Given the description of an element on the screen output the (x, y) to click on. 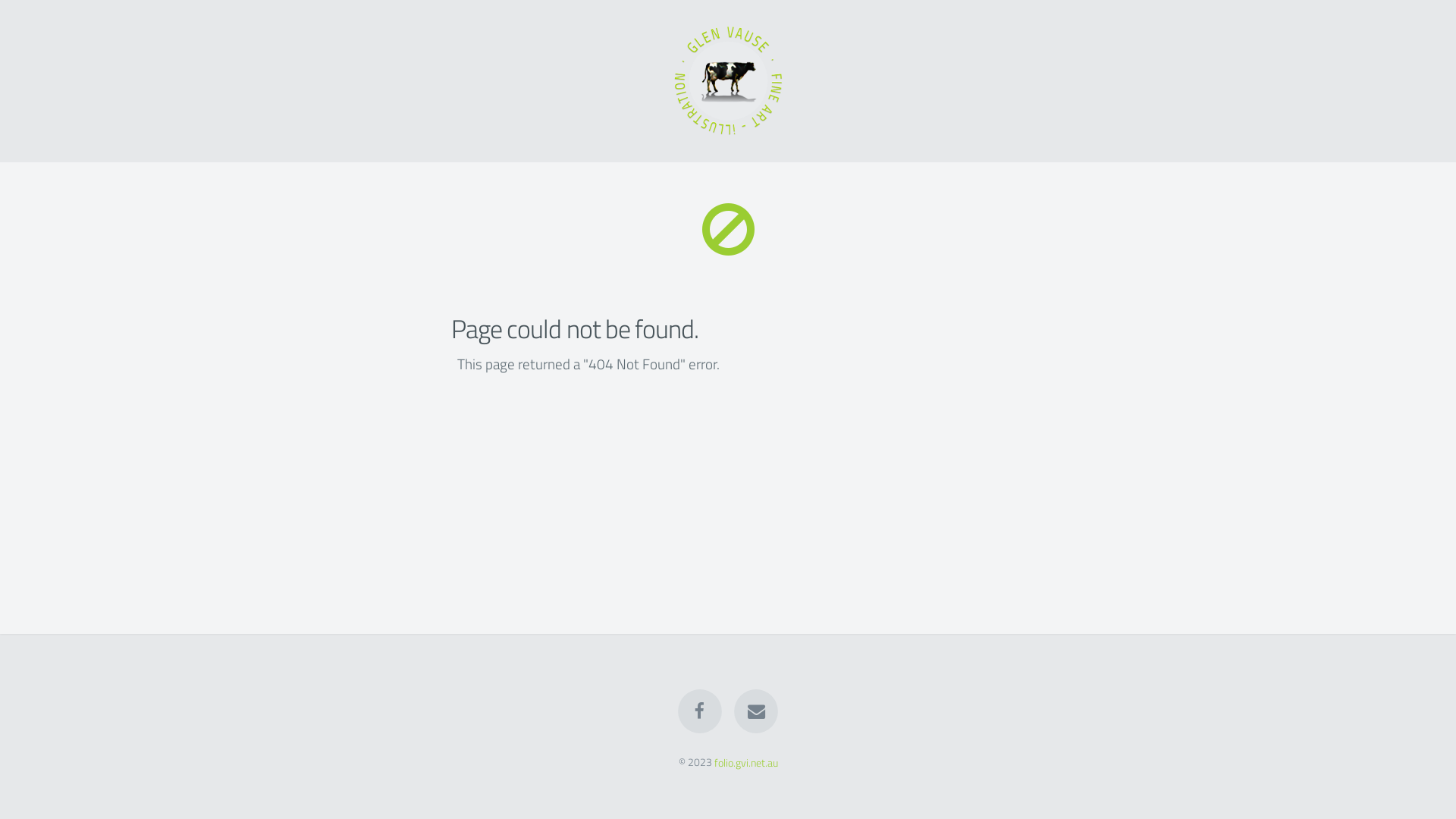
folio.gvi.net.au Element type: text (745, 762)
